Given the description of an element on the screen output the (x, y) to click on. 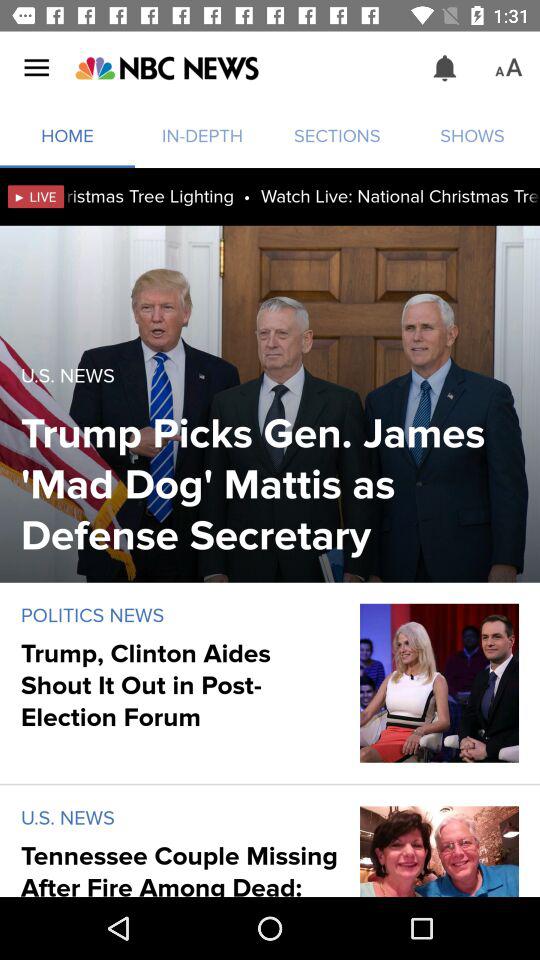
go to main page (166, 68)
